Given the description of an element on the screen output the (x, y) to click on. 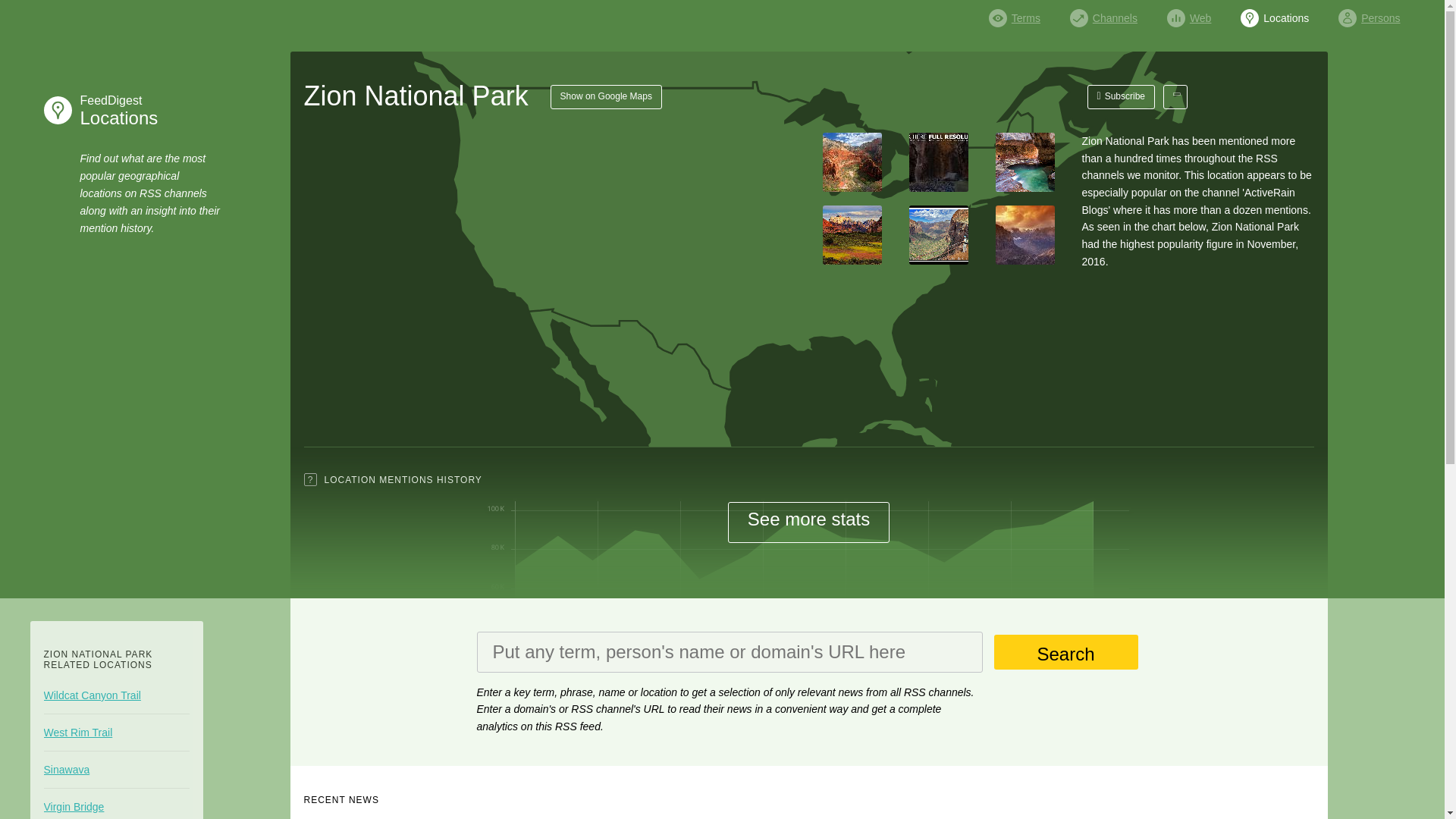
See more stats (808, 522)
Show on Google Maps (606, 96)
Persons (114, 109)
Web (1368, 14)
Subscribe (1189, 14)
Channels (1121, 96)
Terms (1103, 14)
Search (1014, 14)
Locations (1064, 651)
